Given the description of an element on the screen output the (x, y) to click on. 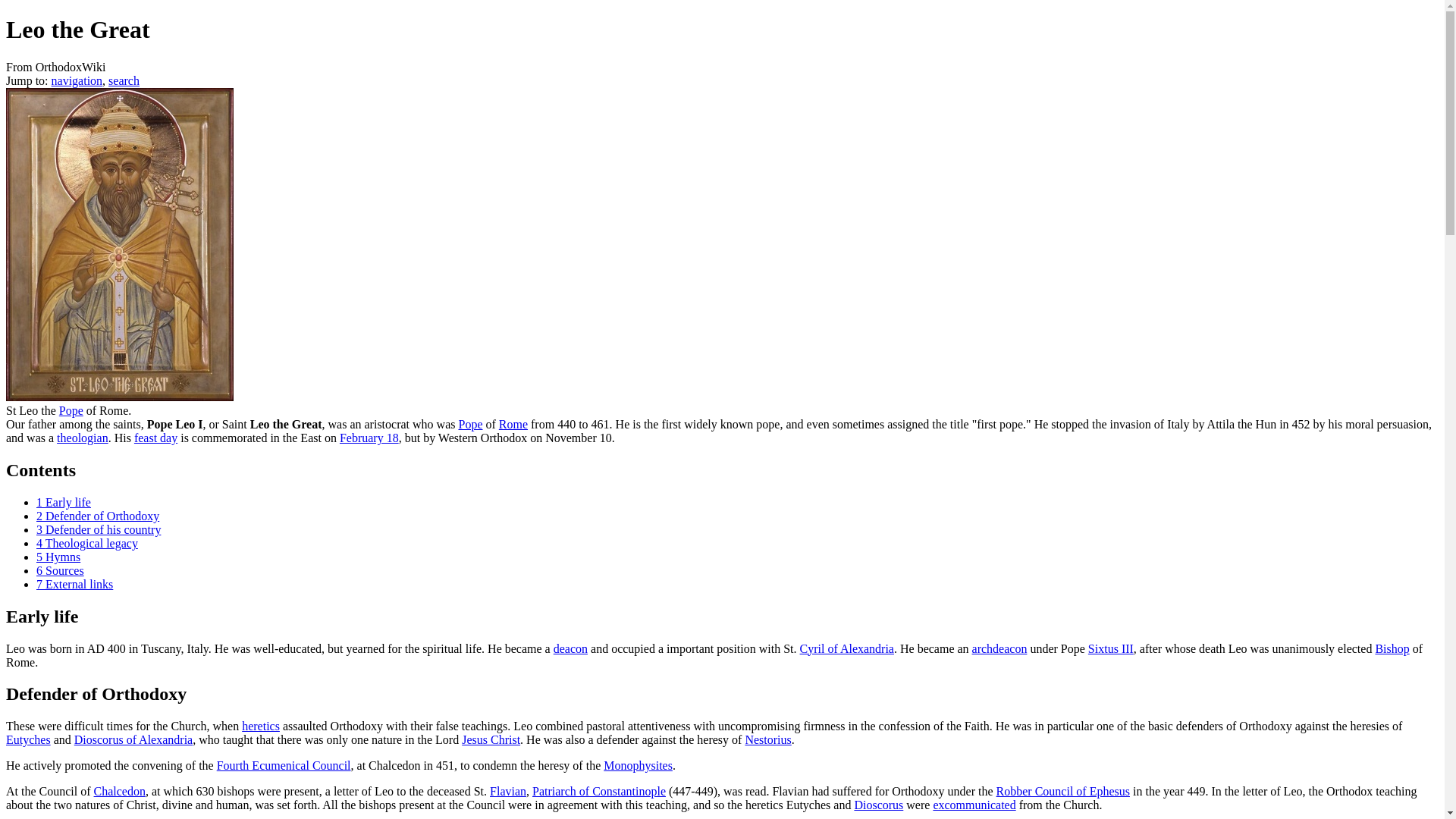
Dioscorus of Alexandria (133, 739)
theologian (81, 437)
Nestorius (767, 739)
Pope (469, 423)
Pope (70, 410)
Feast day (155, 437)
5 Hymns (58, 556)
3 Defender of his country (98, 529)
Cyril of Alexandria (846, 647)
Nestorius (767, 739)
